Given the description of an element on the screen output the (x, y) to click on. 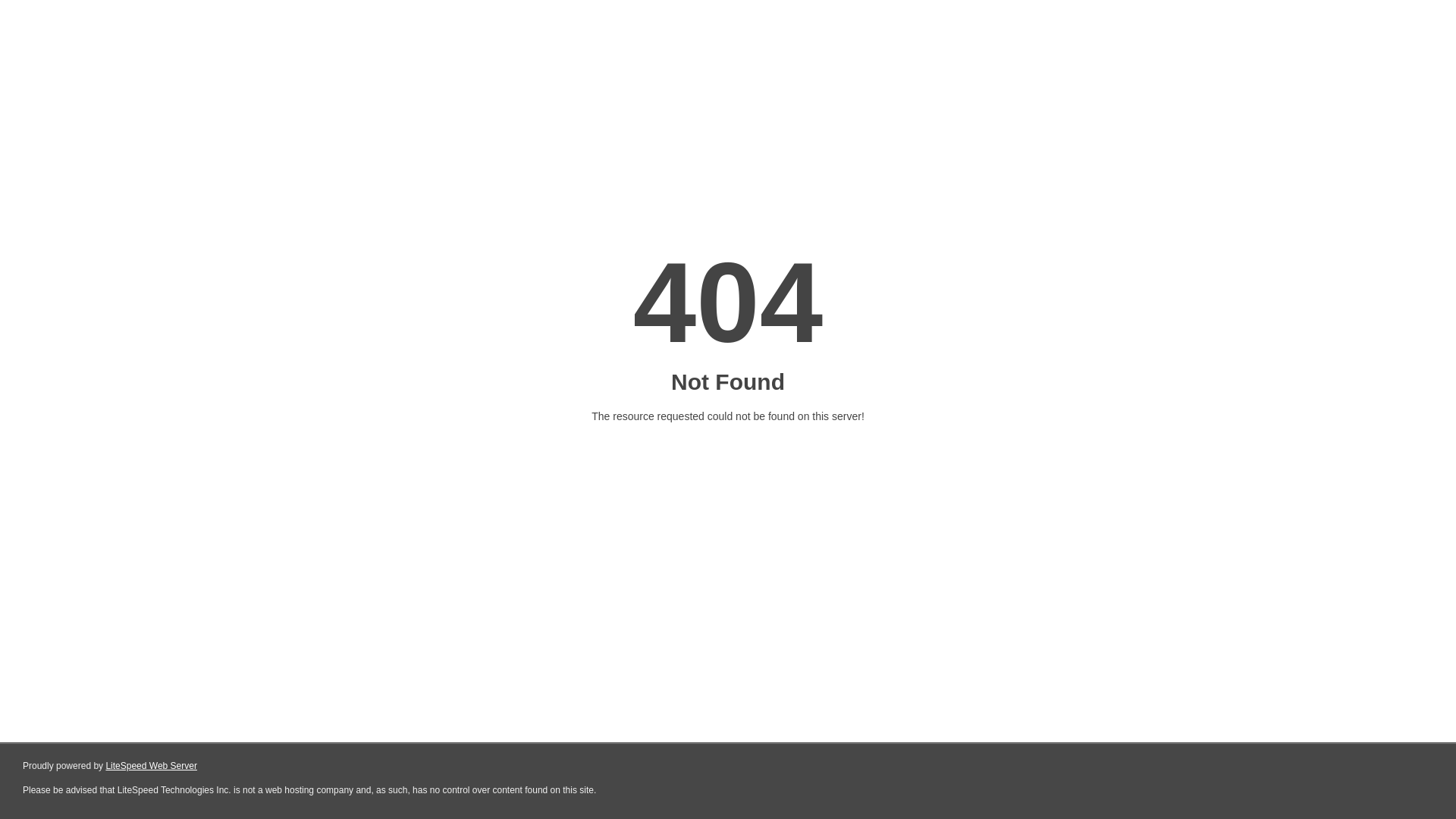
LiteSpeed Web Server Element type: text (151, 765)
